Given the description of an element on the screen output the (x, y) to click on. 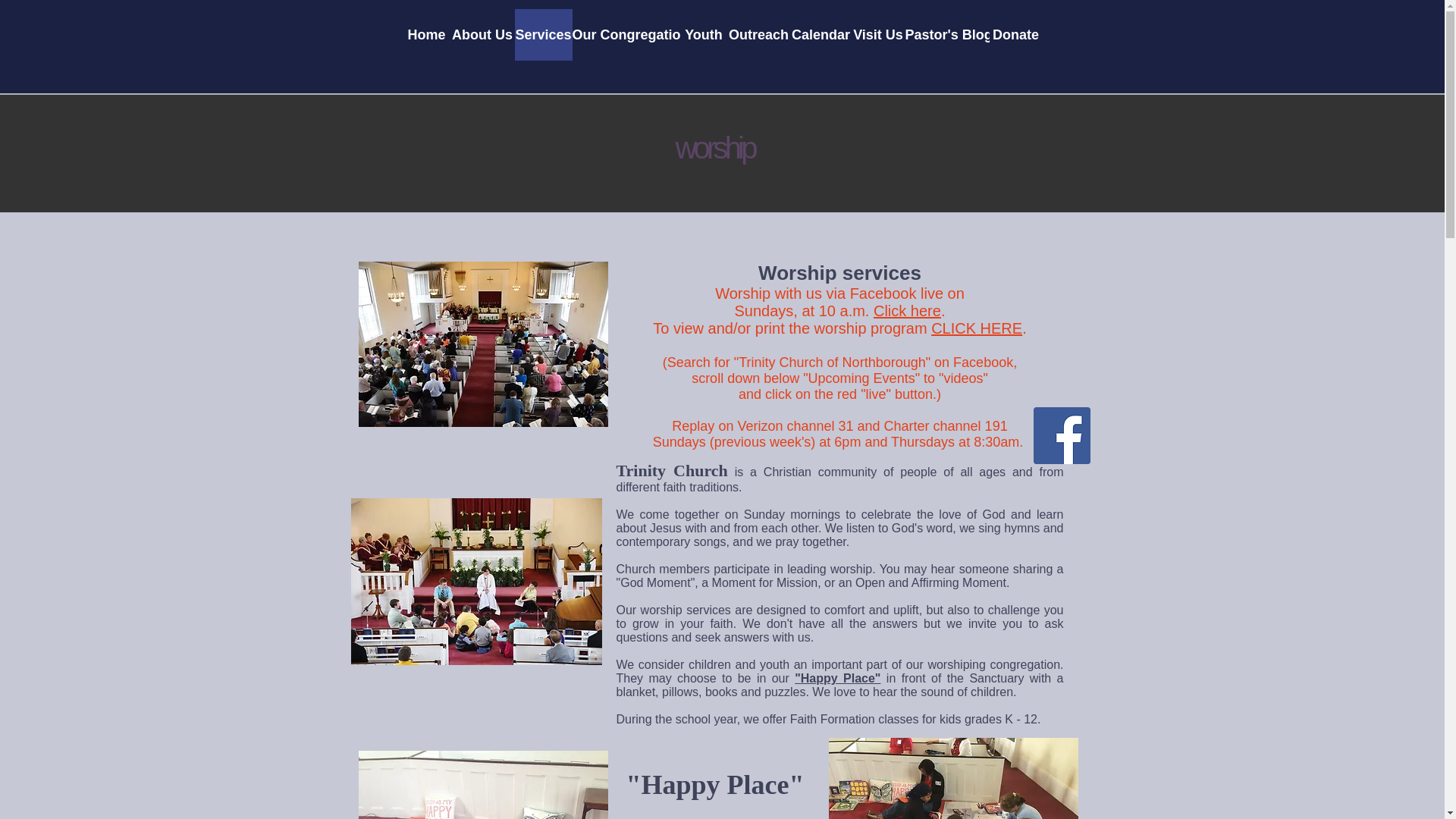
Calendar (820, 34)
Home (426, 34)
Youth (703, 34)
Our Congregation (625, 34)
About Us (482, 34)
Services (542, 34)
Outreach (758, 34)
